Given the description of an element on the screen output the (x, y) to click on. 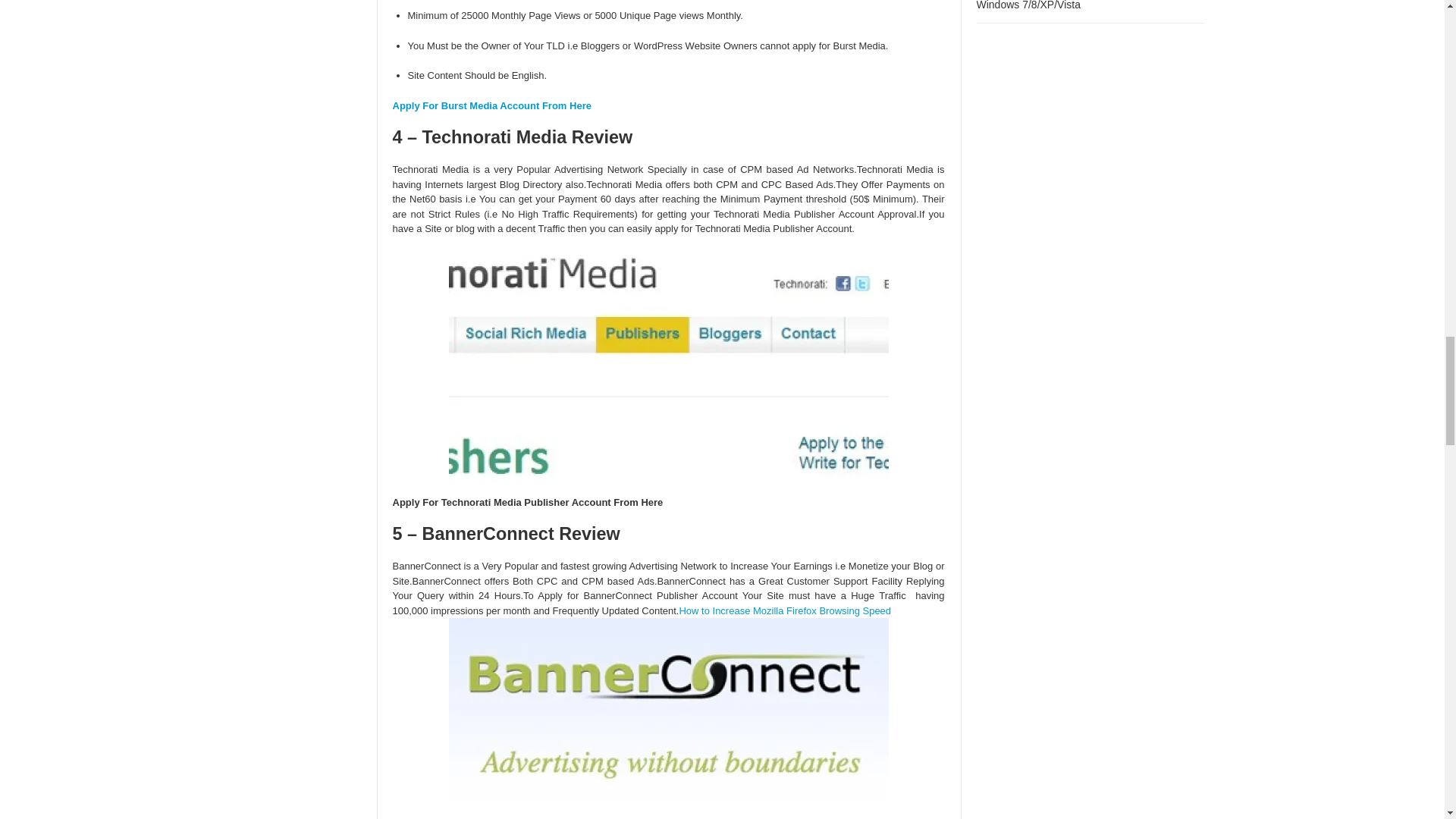
Apply For Burst Media Account From Here (492, 105)
How to Increase Mozilla Firefox Browsing Speed (784, 610)
